Given the description of an element on the screen output the (x, y) to click on. 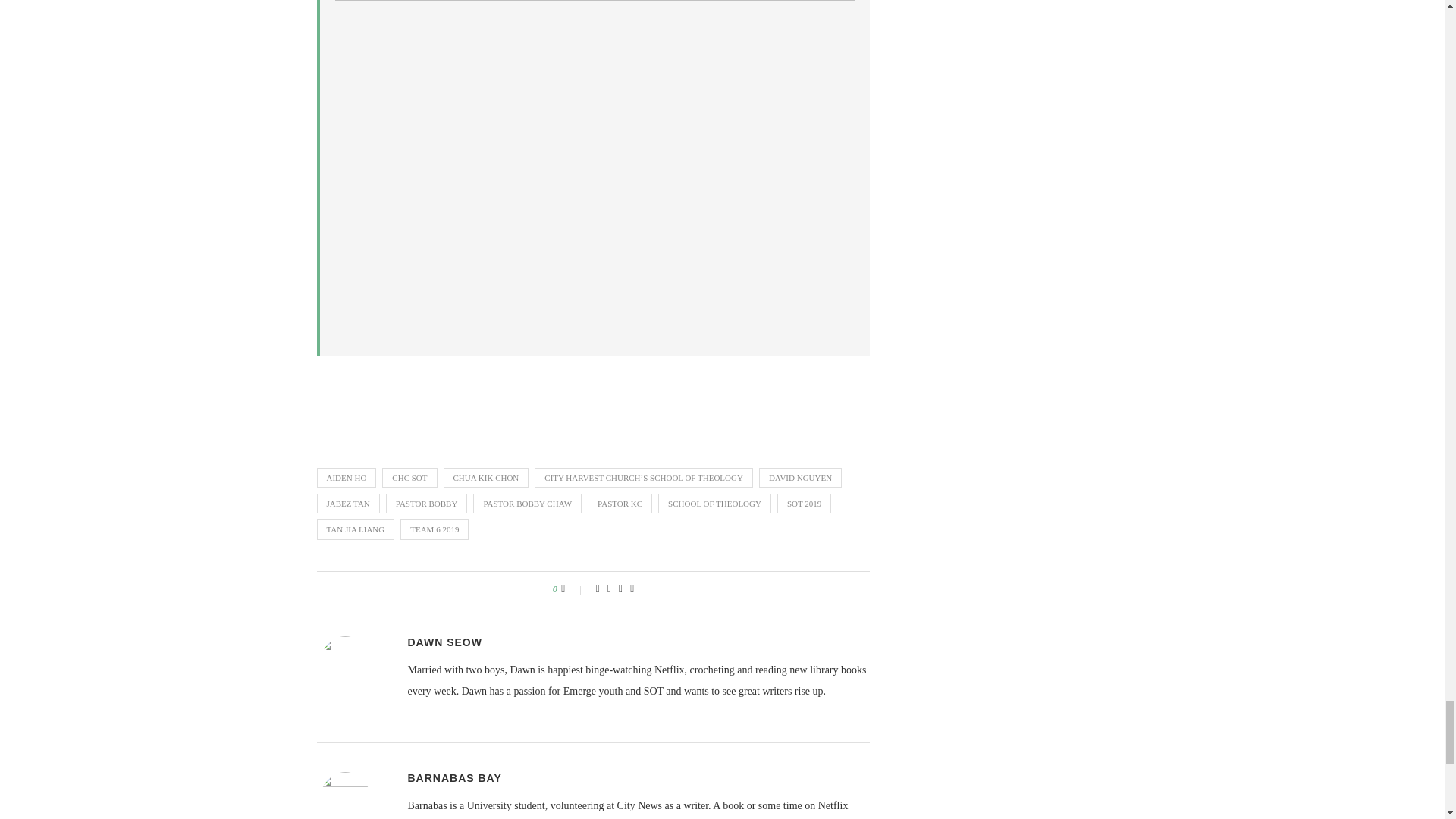
Posts by Dawn Seow (444, 642)
Posts by Barnabas Bay (454, 777)
Like (572, 589)
